Given the description of an element on the screen output the (x, y) to click on. 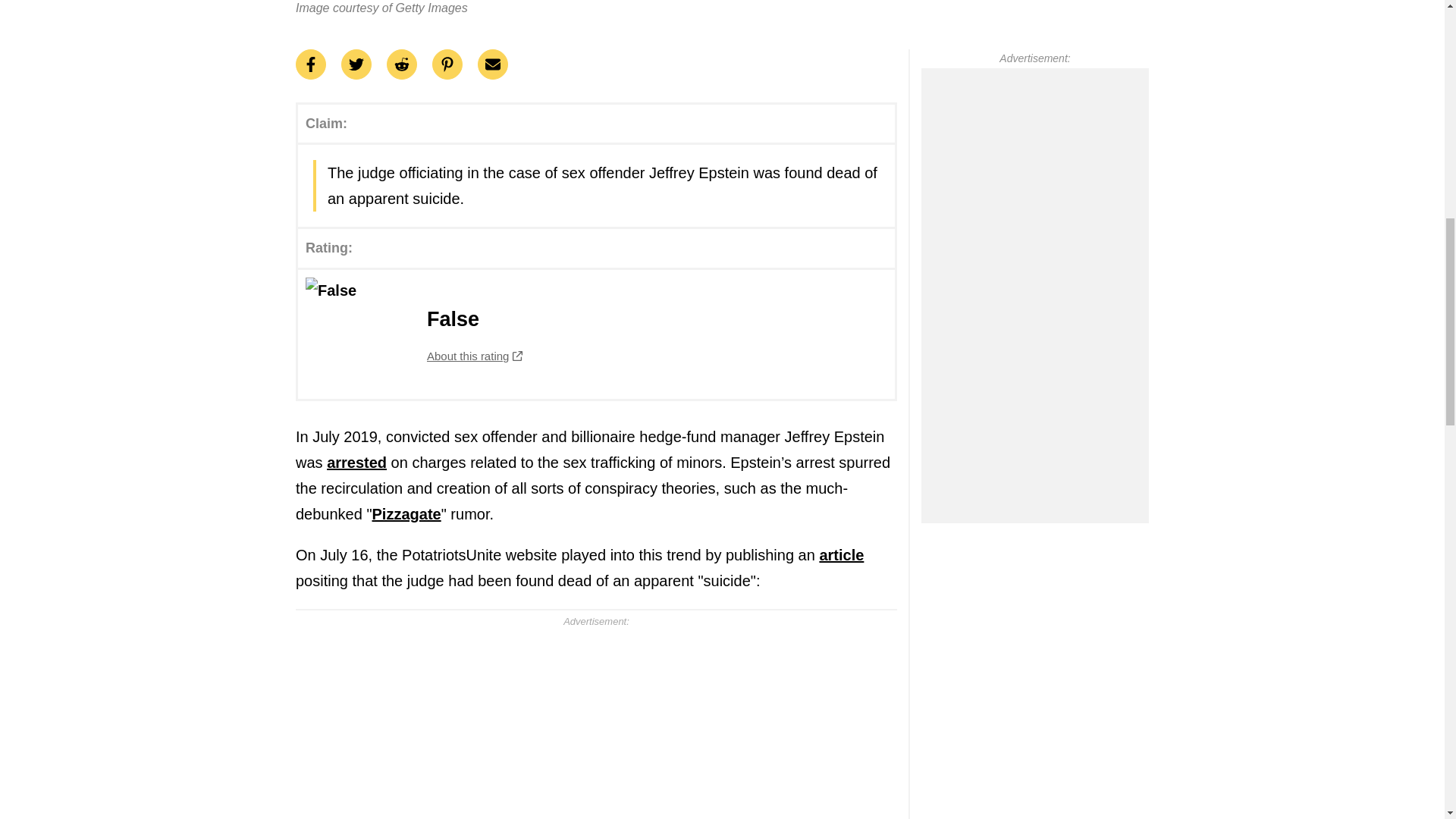
arrested (595, 334)
